Given the description of an element on the screen output the (x, y) to click on. 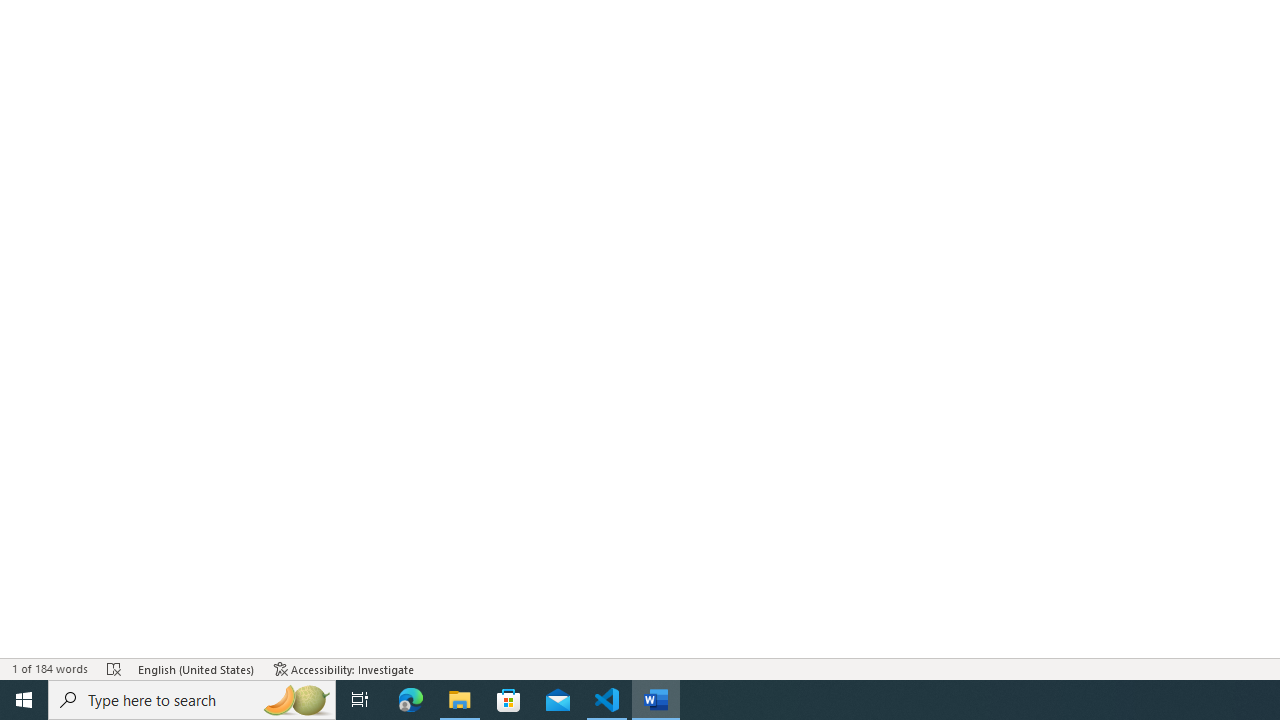
Word Count 1 of 184 words (49, 668)
